Given the description of an element on the screen output the (x, y) to click on. 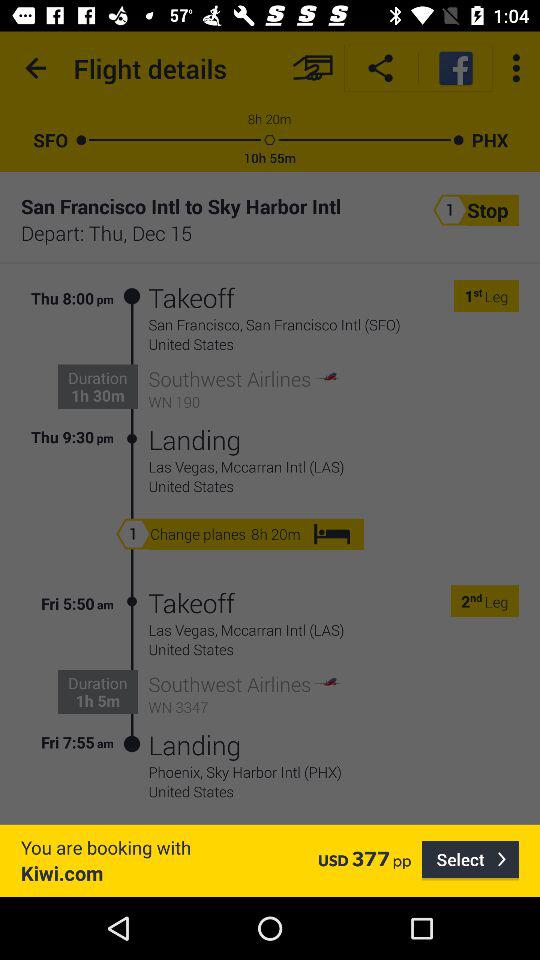
jump until 1h 30m icon (97, 395)
